Given the description of an element on the screen output the (x, y) to click on. 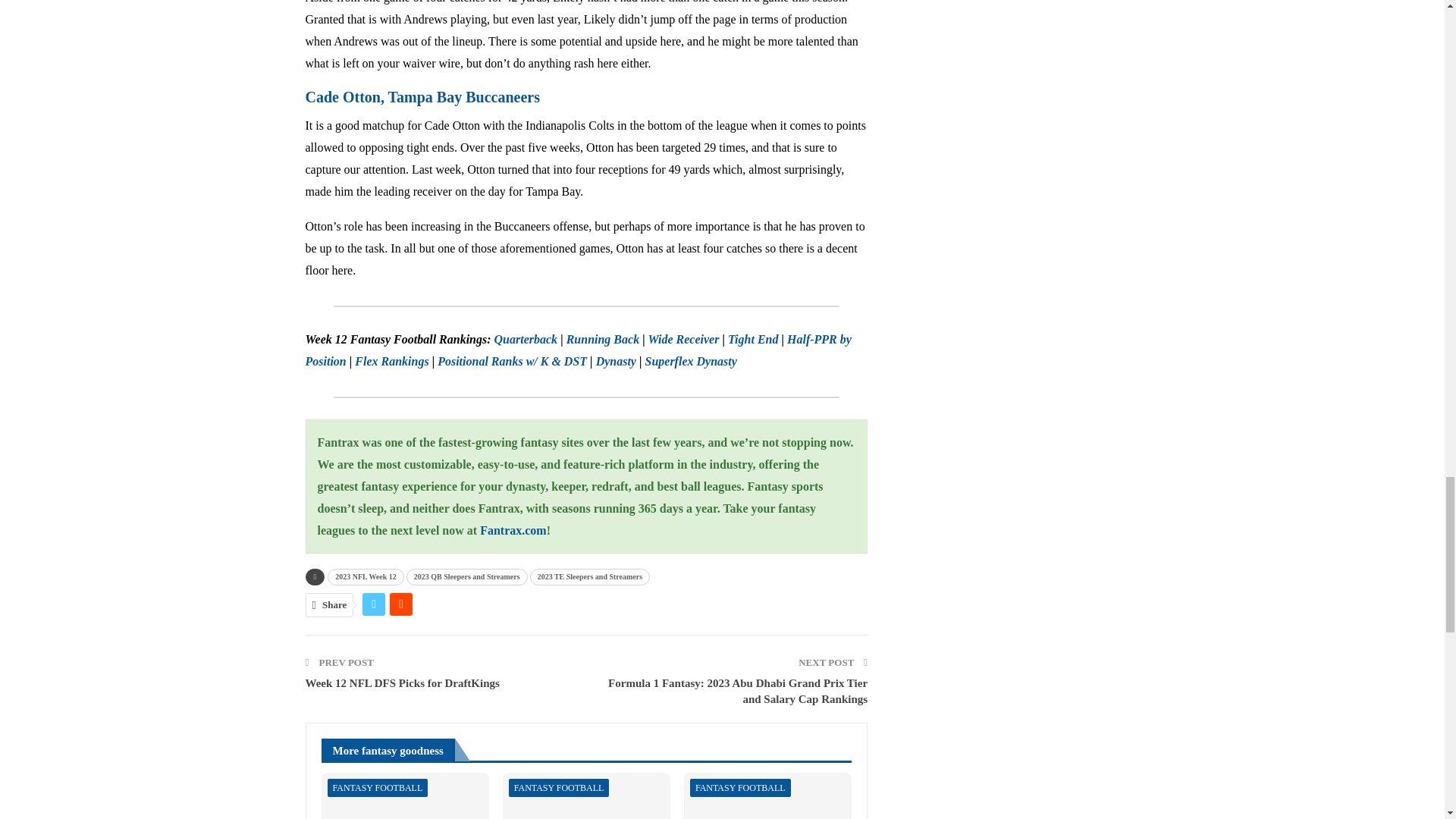
Worst Pick in Each Round of 2024 Fantasy Football Drafts (767, 796)
Kicker Rankings for 2024 Fantasy Football (585, 796)
Best Pick in Each Round of 2024 Fantasy Football Drafts (405, 796)
